Given the description of an element on the screen output the (x, y) to click on. 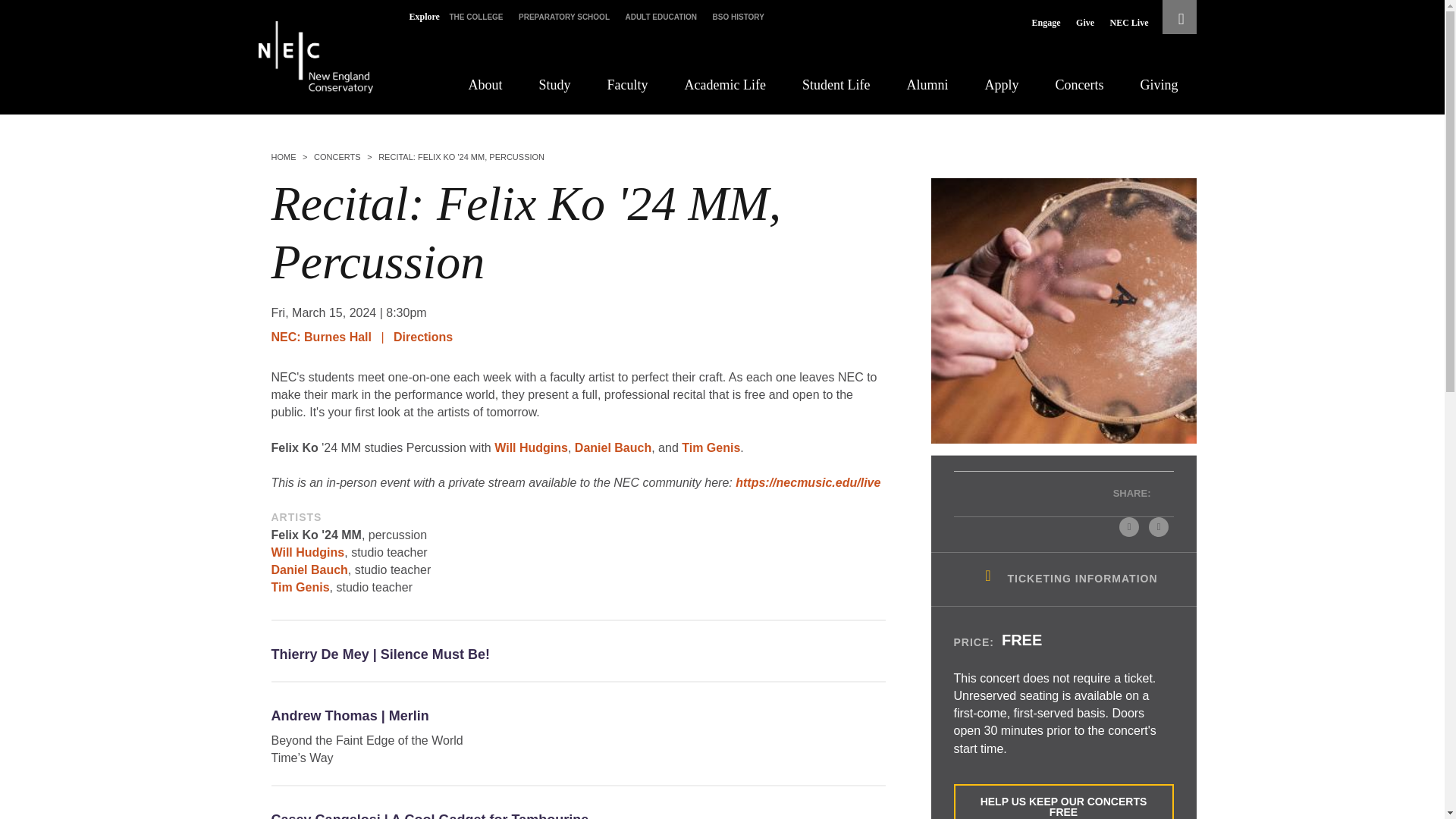
NEC Live (1128, 22)
Submit (467, 70)
THE COLLEGE (475, 16)
Faculty (627, 84)
PREPARATORY SCHOOL (564, 16)
Study (554, 84)
BSO HISTORY (738, 16)
Give (1084, 22)
Engage (1046, 22)
About (485, 84)
ADULT EDUCATION (660, 16)
Academic Life (724, 84)
